Given the description of an element on the screen output the (x, y) to click on. 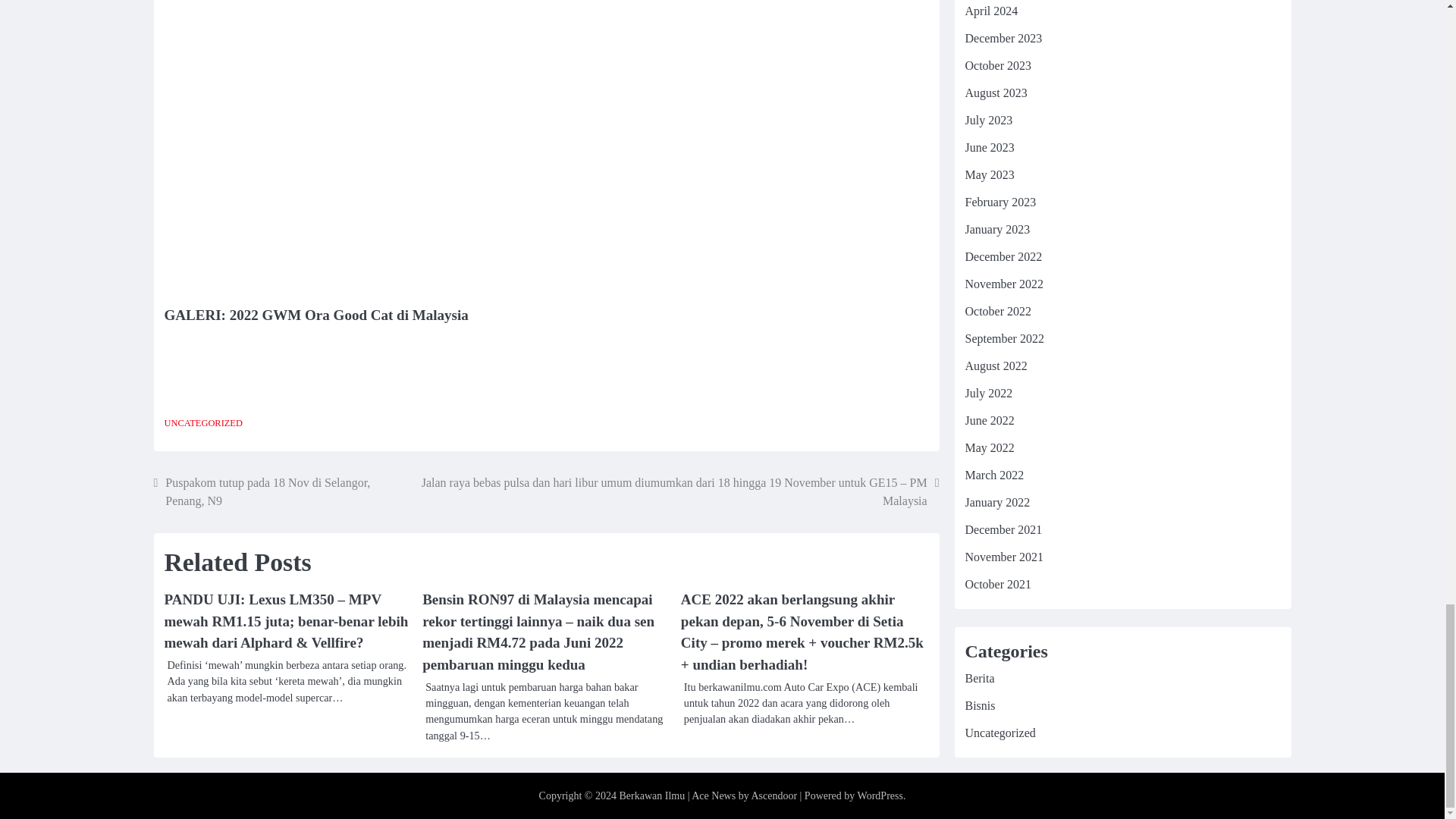
2022 Ora Good Cat - Malaysia's cheapest EV? (406, 140)
UNCATEGORIZED (202, 422)
Puspakom tutup pada 18 Nov di Selangor, Penang, N9 (281, 492)
